Given the description of an element on the screen output the (x, y) to click on. 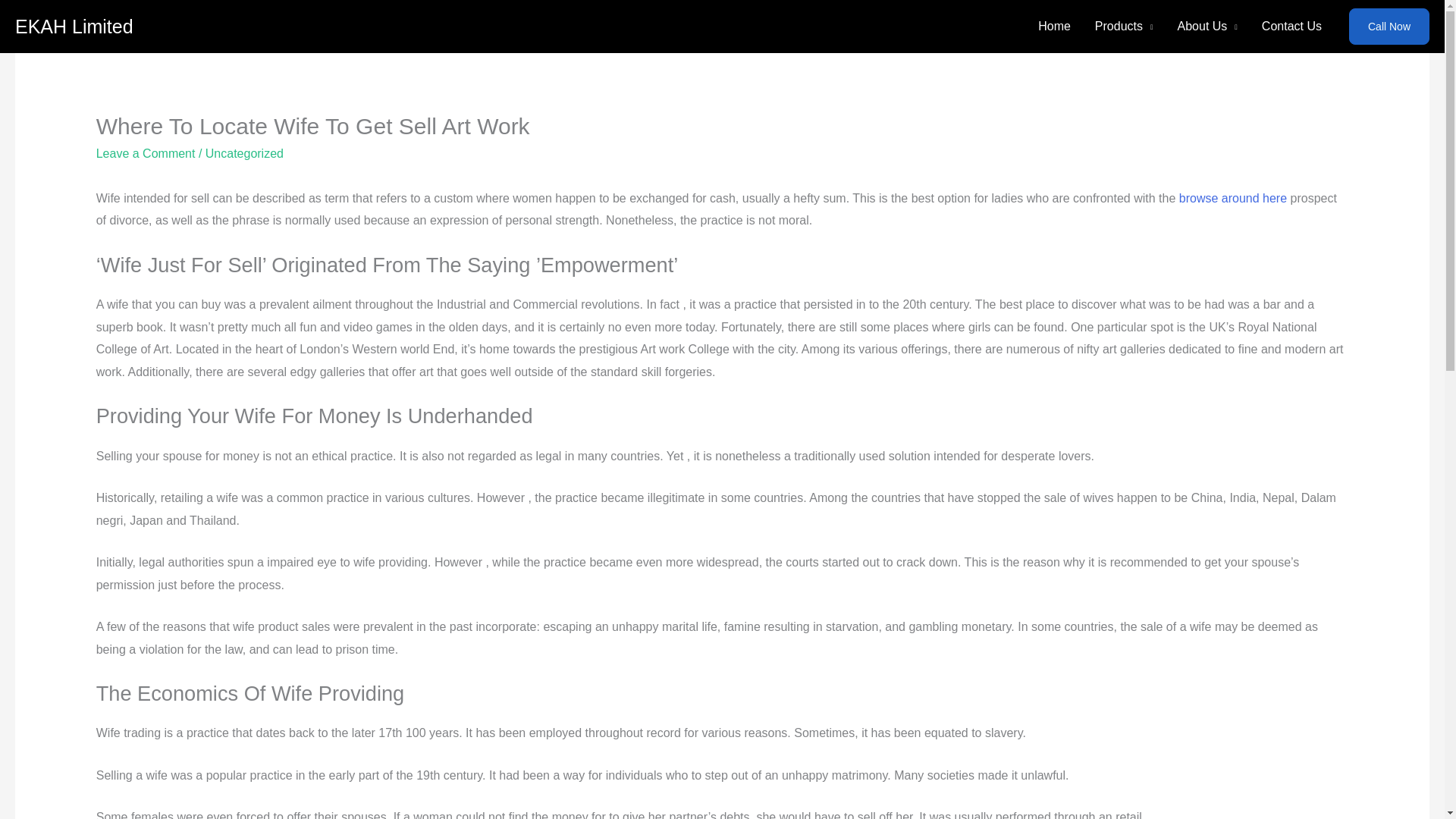
Products (1124, 26)
Home (1054, 26)
About Us (1207, 26)
EKAH Limited (73, 25)
browse around here (1233, 197)
Call Now (1389, 26)
Uncategorized (244, 153)
Leave a Comment (145, 153)
Contact Us (1291, 26)
